Given the description of an element on the screen output the (x, y) to click on. 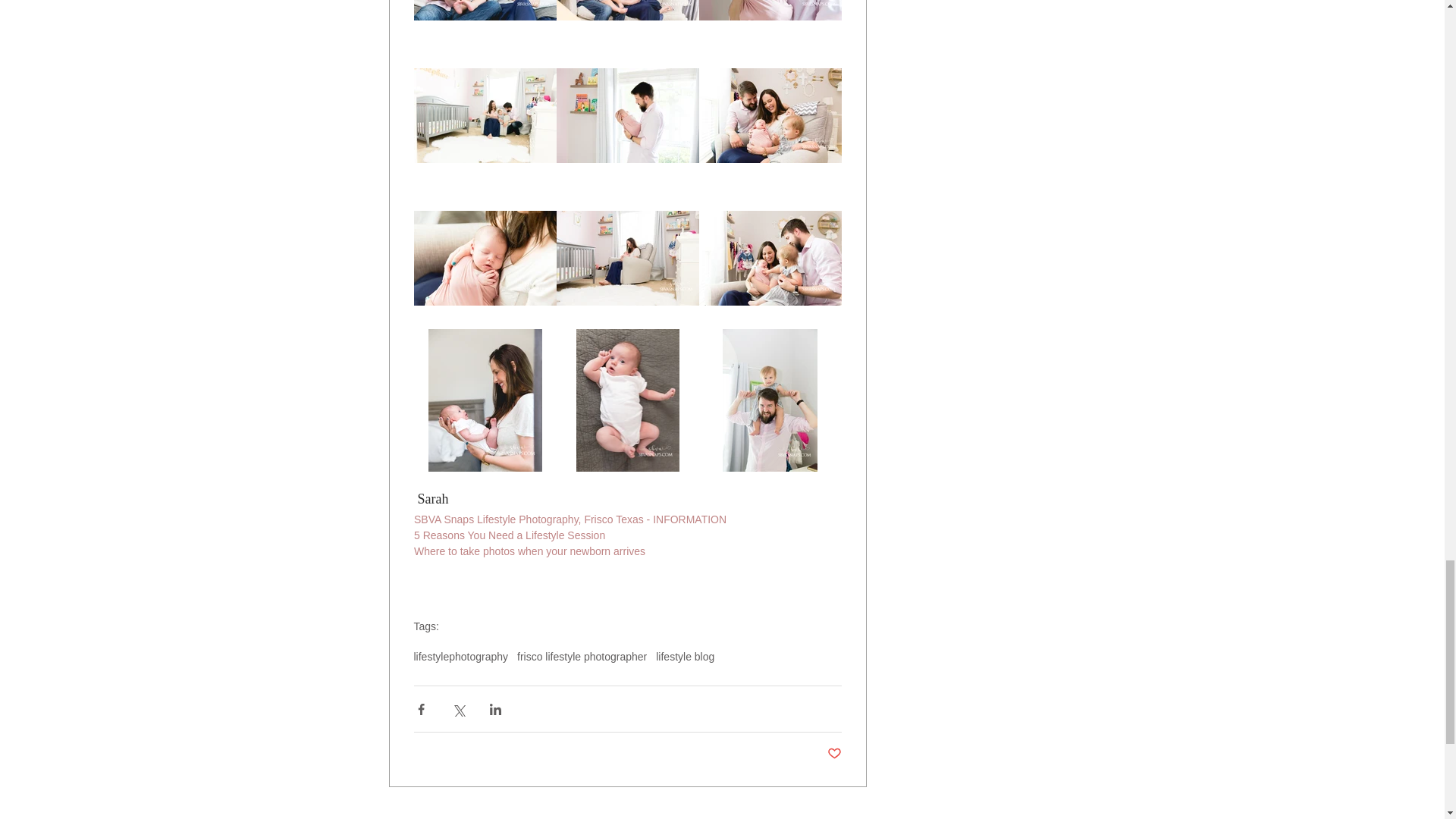
SBVA Snaps Lifestyle Photography, Frisco Texas - INFORMATION (569, 519)
frisco lifestyle photographer (581, 656)
lifestylephotography (460, 656)
lifestyle blog (685, 656)
Where to take photos when your newborn arrives (529, 551)
5 Reasons You Need a Lifestyle Session (509, 535)
Post not marked as liked (834, 754)
